Given the description of an element on the screen output the (x, y) to click on. 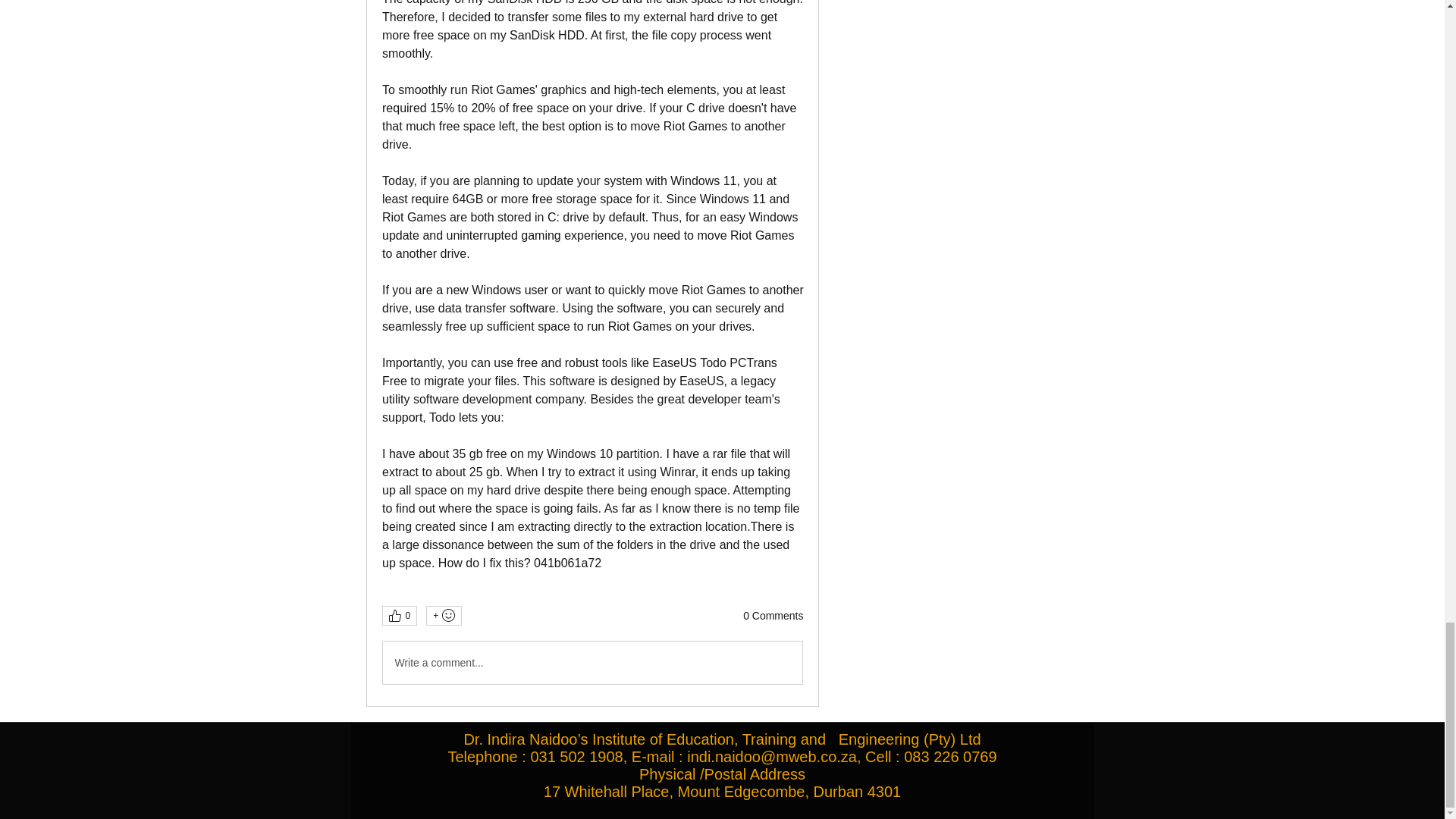
Write a comment... (591, 662)
0 Comments (772, 616)
